Given the description of an element on the screen output the (x, y) to click on. 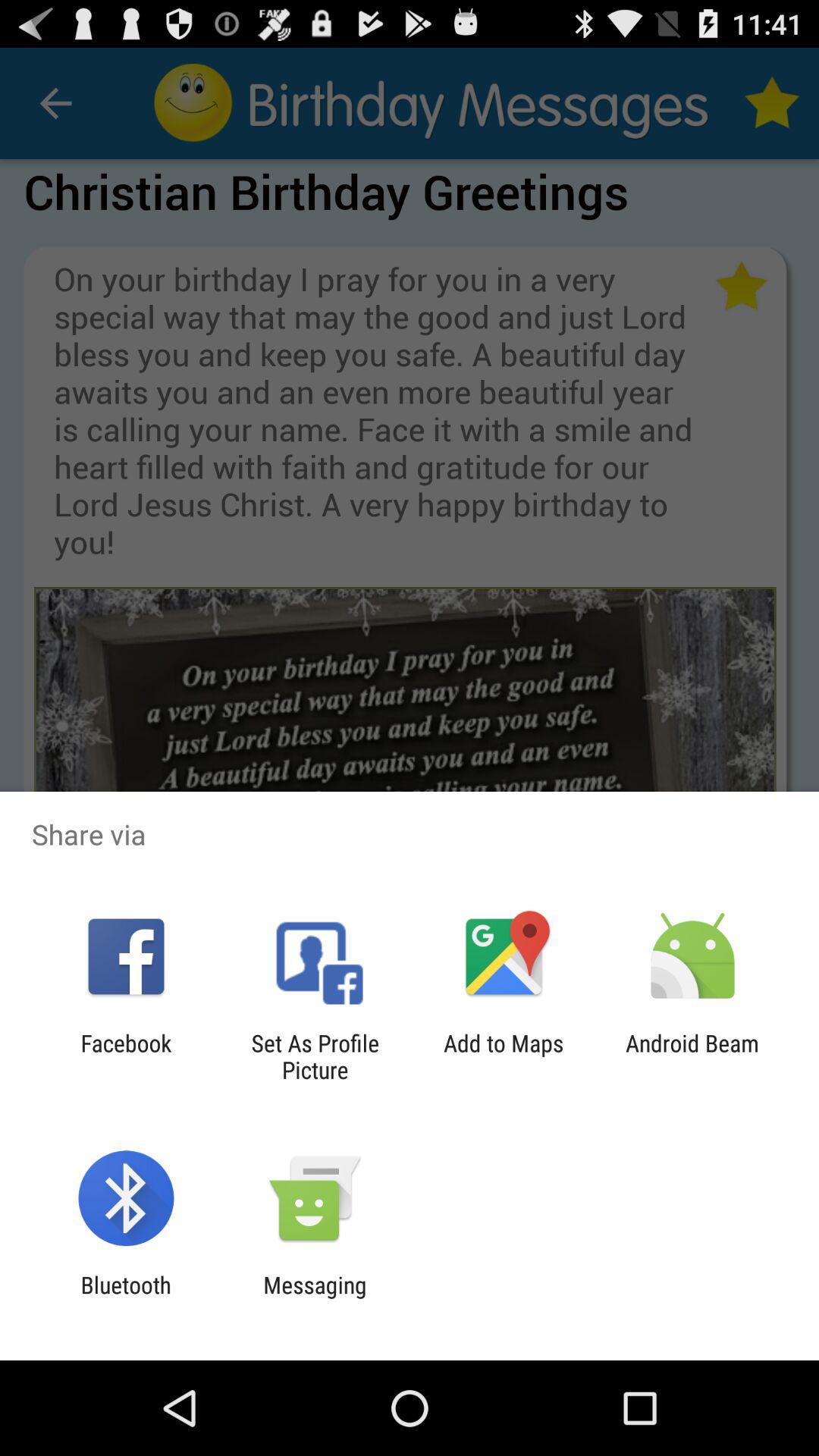
tap item to the right of add to maps item (692, 1056)
